Given the description of an element on the screen output the (x, y) to click on. 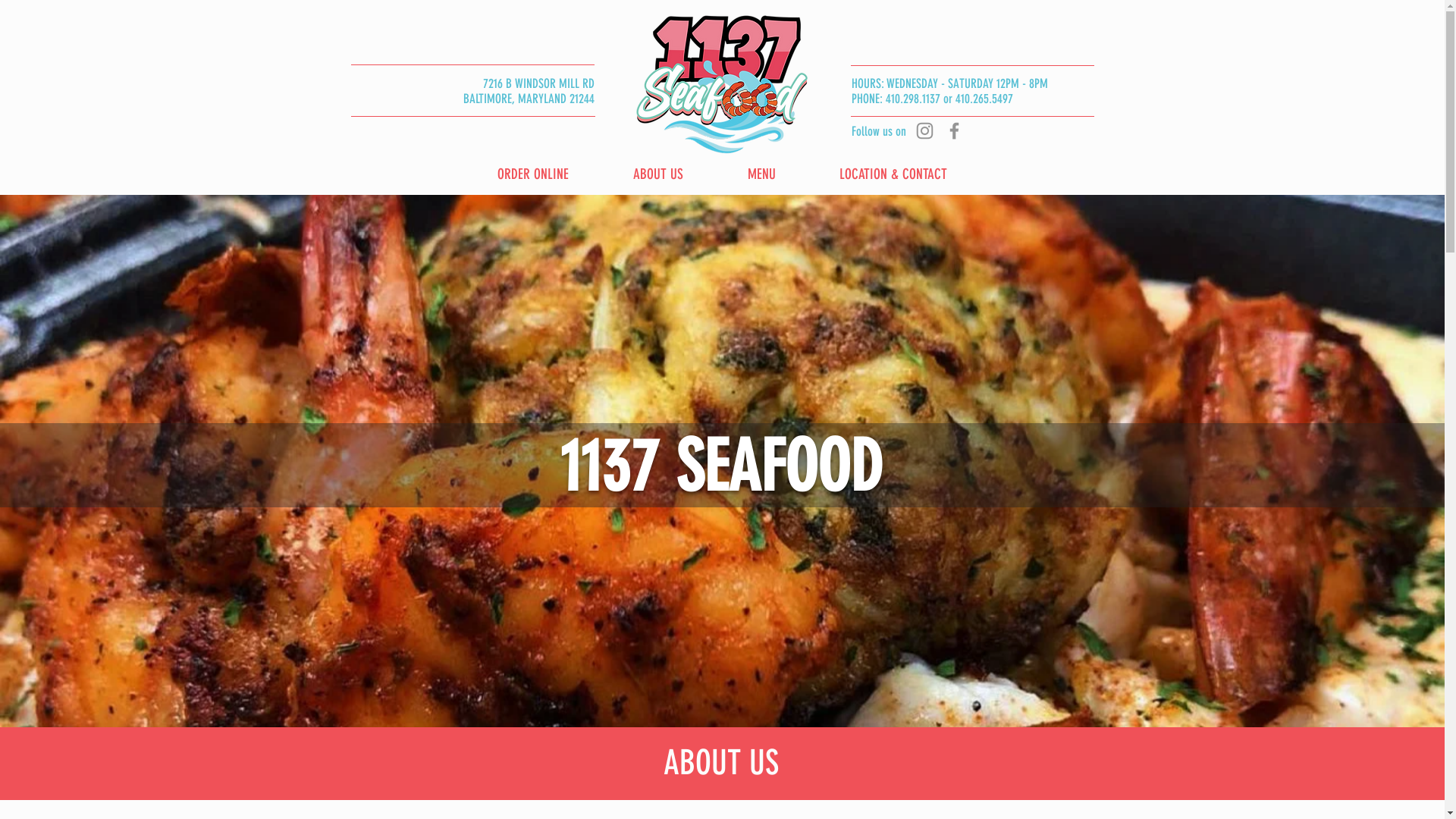
MENU Element type: text (761, 174)
ABOUT US Element type: text (657, 174)
7216 B WINDSOR MILL RD
BALTIMORE, MARYLAND 21244 Element type: text (527, 90)
410.265.5497 Element type: text (984, 98)
LOCATION & CONTACT Element type: text (892, 174)
ORDER ONLINE Element type: text (533, 174)
410.298.1137 Element type: text (912, 98)
